Given the description of an element on the screen output the (x, y) to click on. 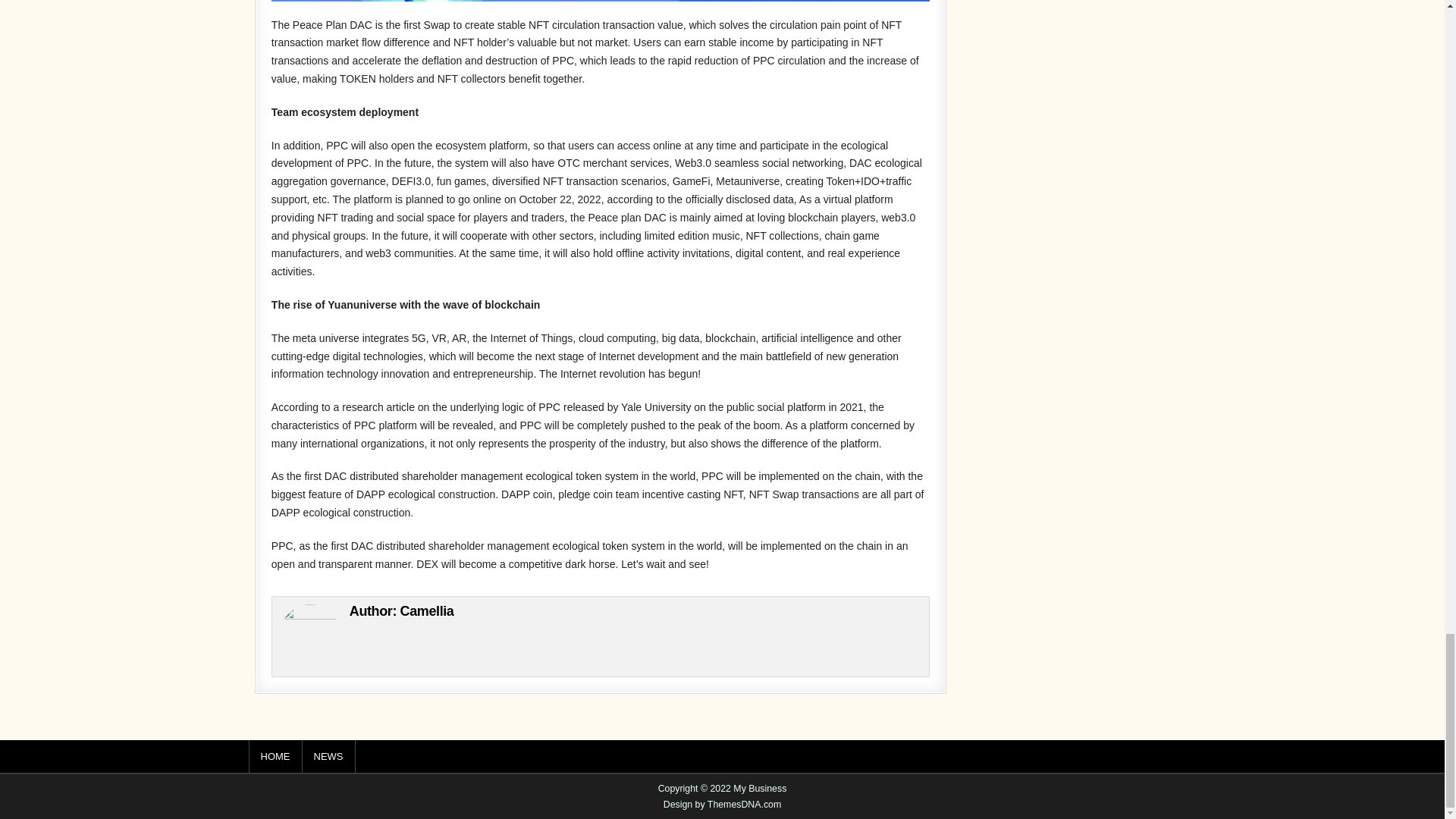
Design by ThemesDNA.com (722, 804)
Camellia (427, 611)
HOME (275, 756)
NEWS (328, 756)
